Given the description of an element on the screen output the (x, y) to click on. 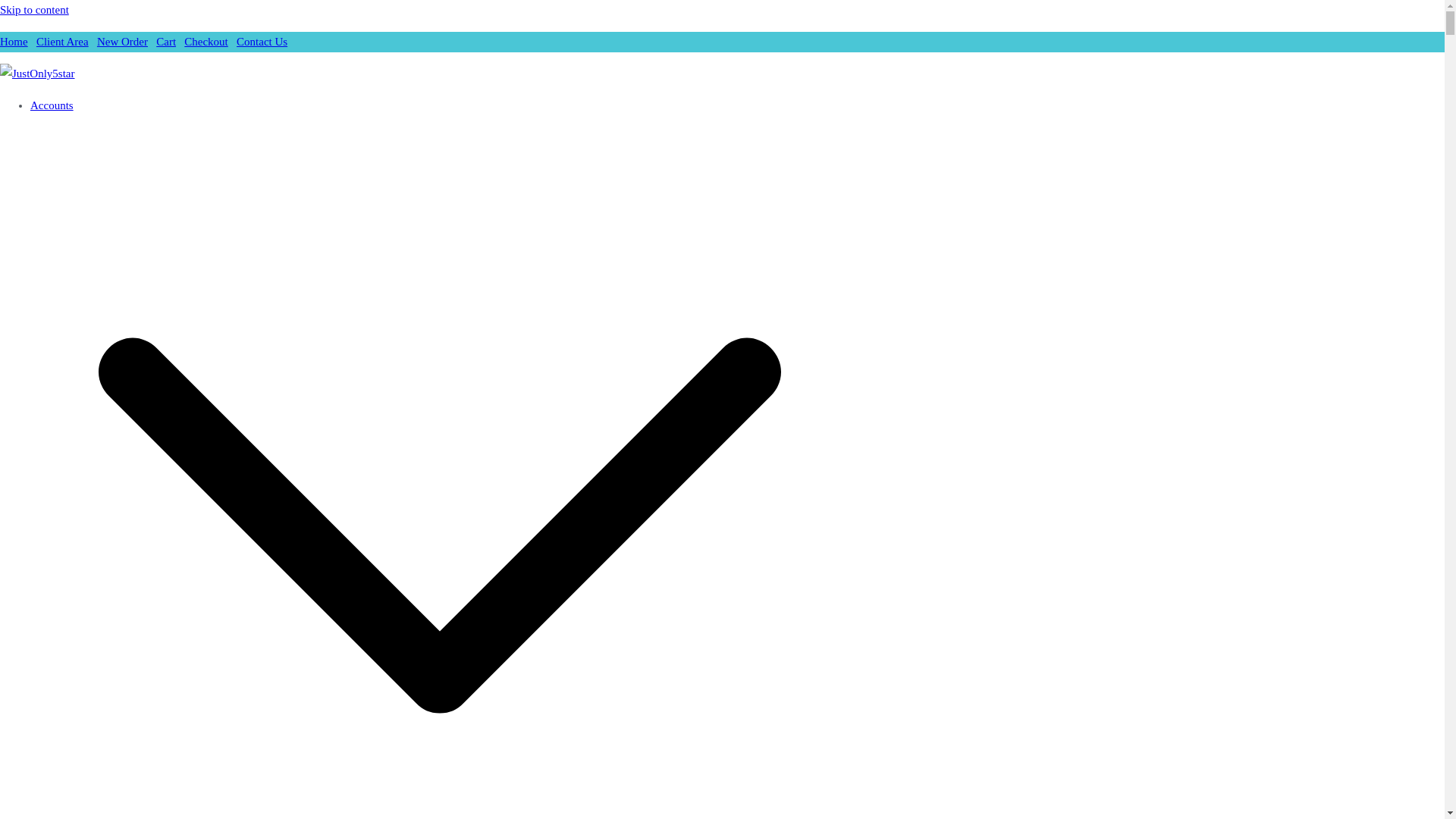
Client Area (62, 41)
Home (13, 41)
Skip to content (34, 9)
Cart (165, 41)
Checkout (206, 41)
JustOnly5star (62, 123)
New Order (122, 41)
Contact Us (260, 41)
